Given the description of an element on the screen output the (x, y) to click on. 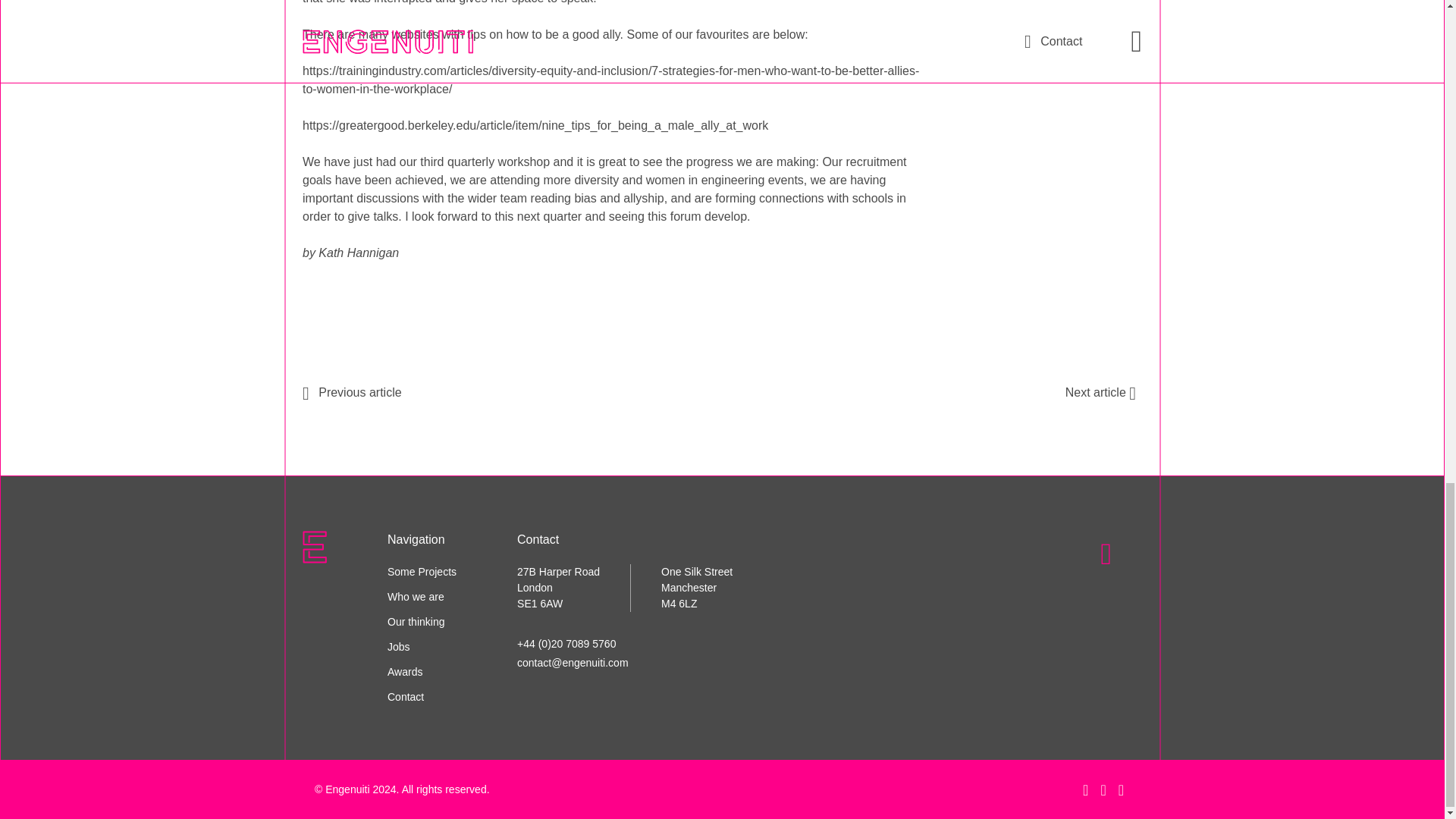
Who we are (415, 596)
Next article (1103, 391)
Contact (405, 696)
Awards (404, 671)
Jobs (398, 646)
Some Projects (422, 571)
Previous article (351, 391)
Our thinking (415, 621)
